Given the description of an element on the screen output the (x, y) to click on. 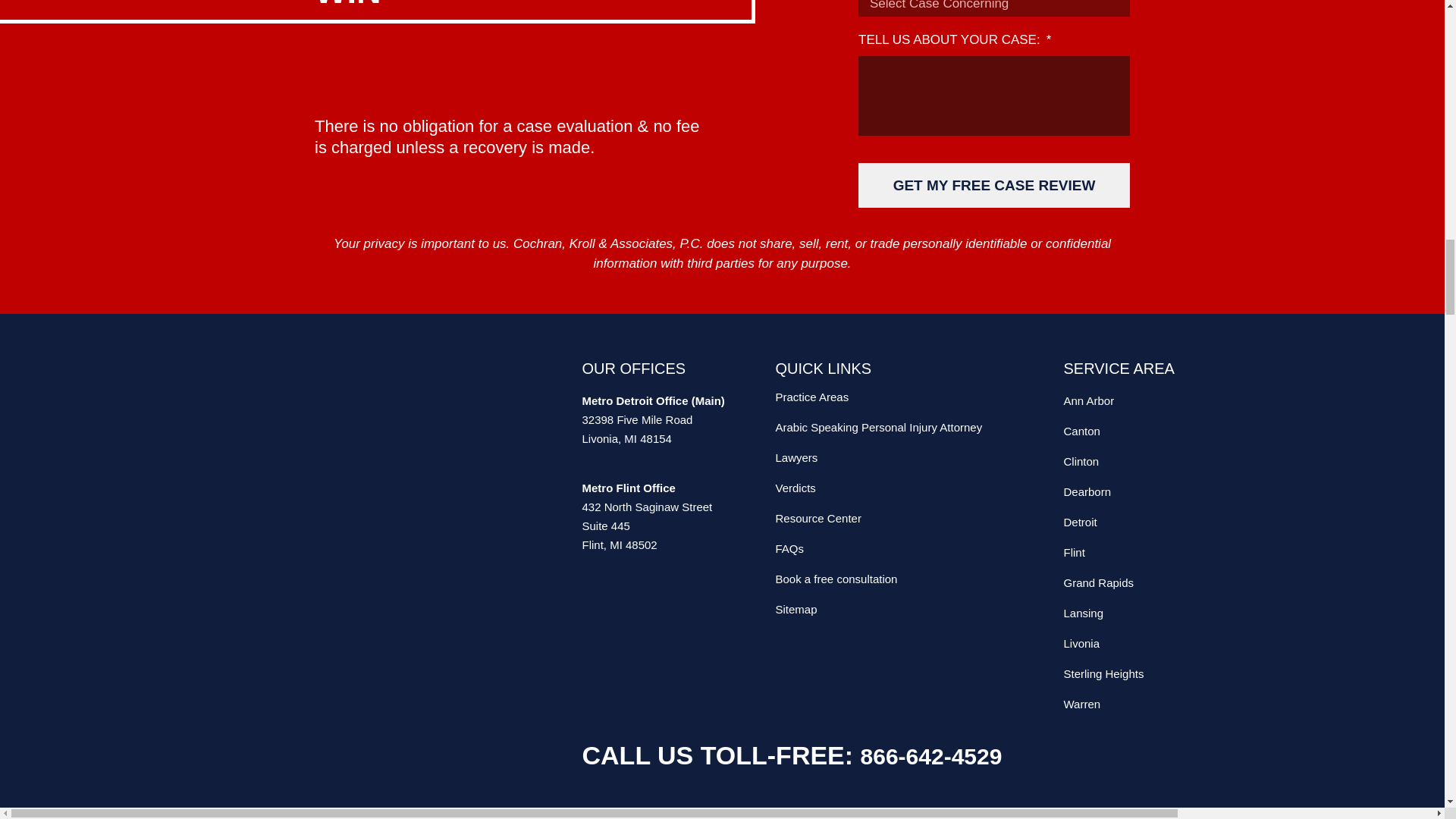
map (385, 527)
Get my free case review (994, 185)
